Given the description of an element on the screen output the (x, y) to click on. 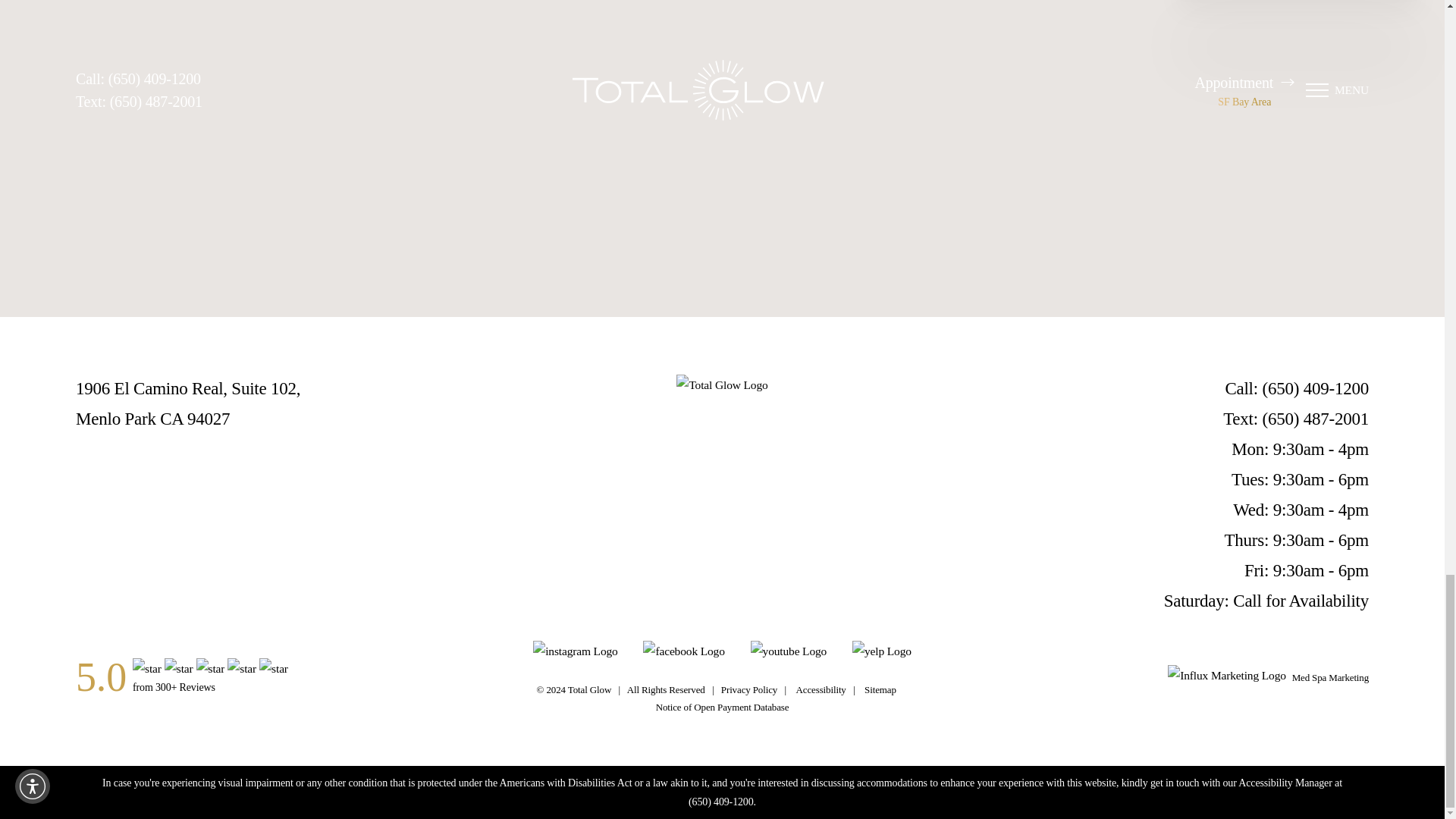
Submit Form (193, 207)
